Given the description of an element on the screen output the (x, y) to click on. 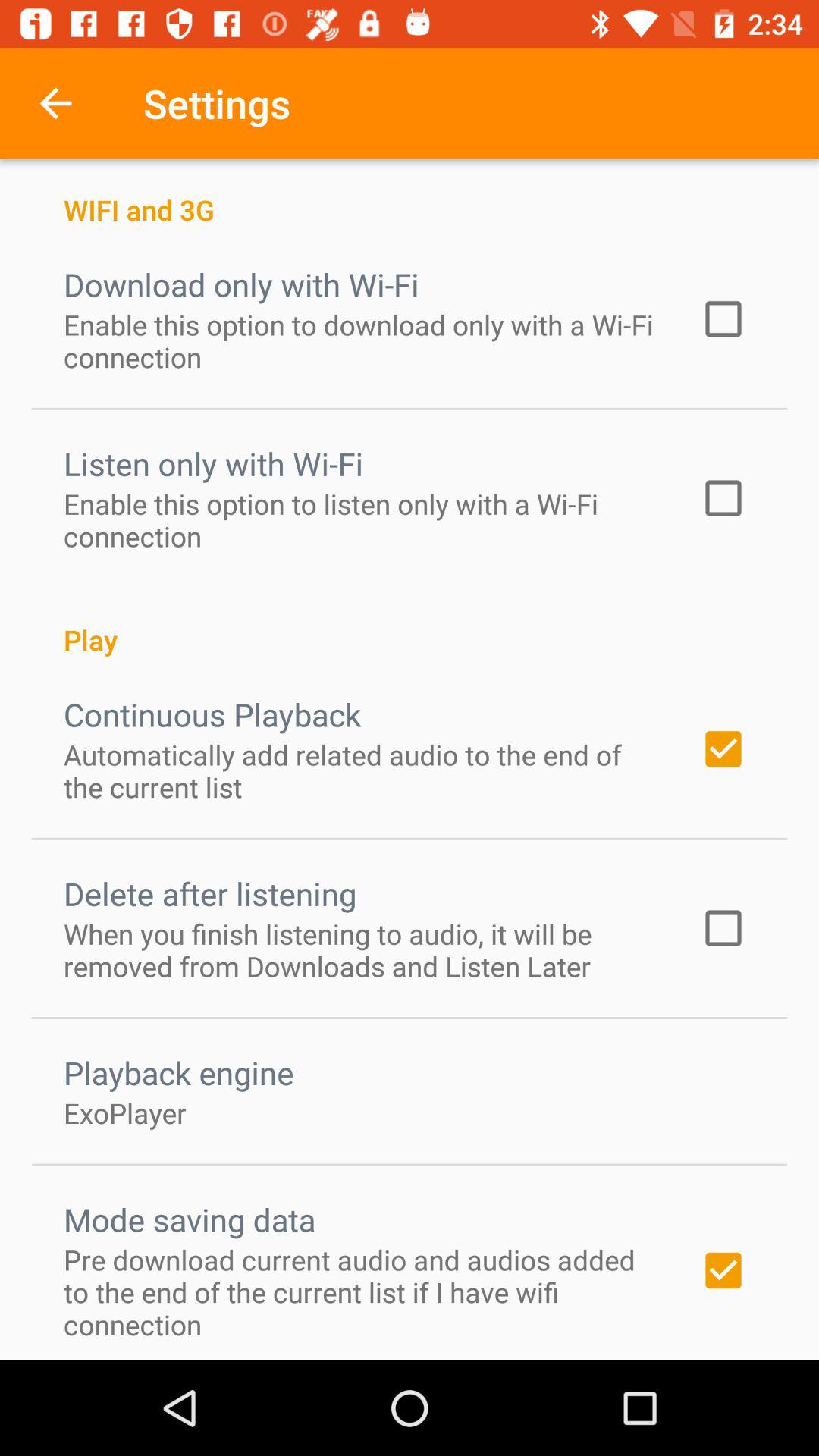
turn off continuous playback (212, 713)
